Given the description of an element on the screen output the (x, y) to click on. 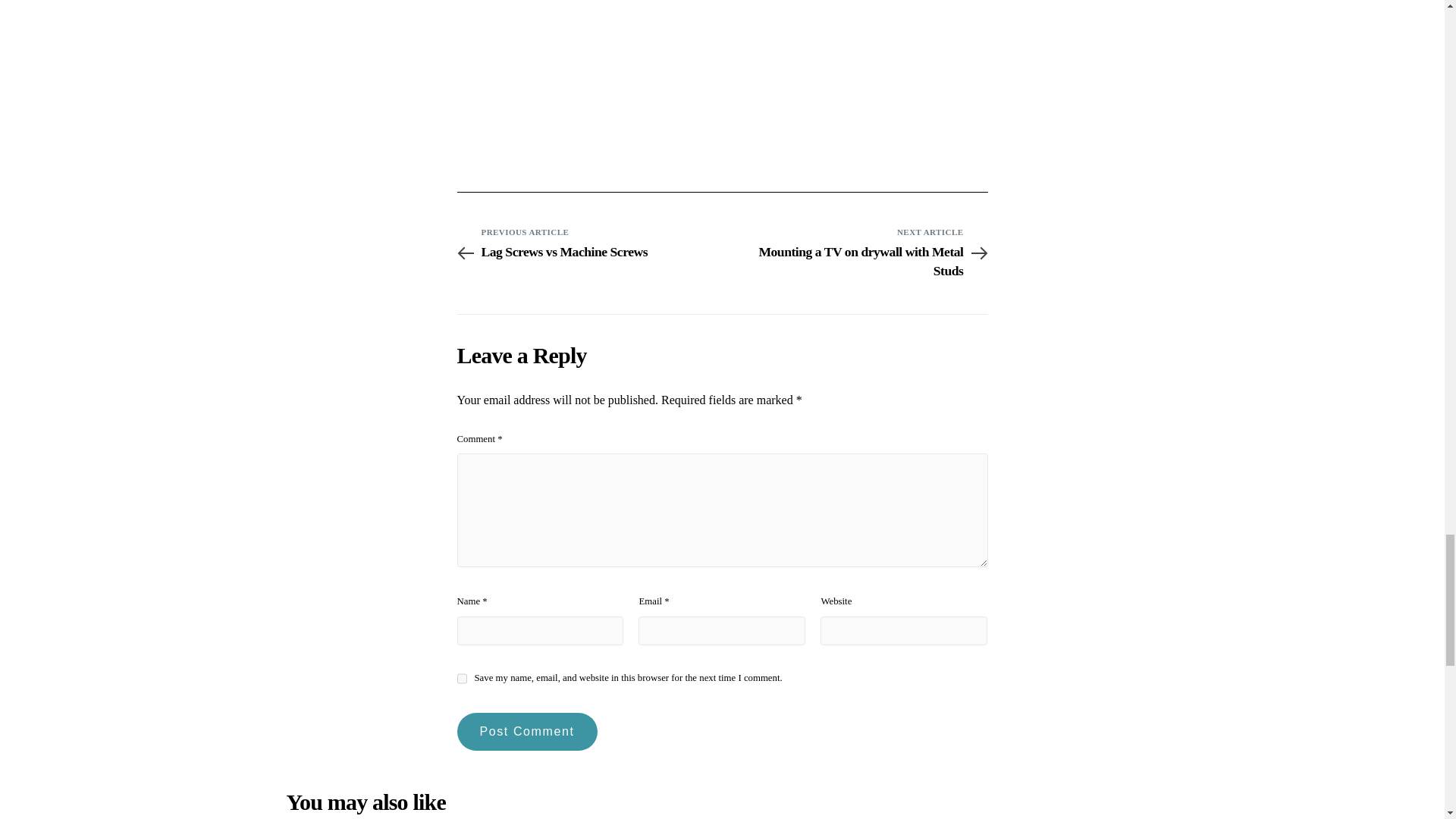
Lag Screws vs Machine Screws (588, 251)
yes (853, 252)
Post Comment (461, 678)
Mounting a TV on drywall with Metal Studs (526, 731)
Post Comment (853, 261)
